Given the description of an element on the screen output the (x, y) to click on. 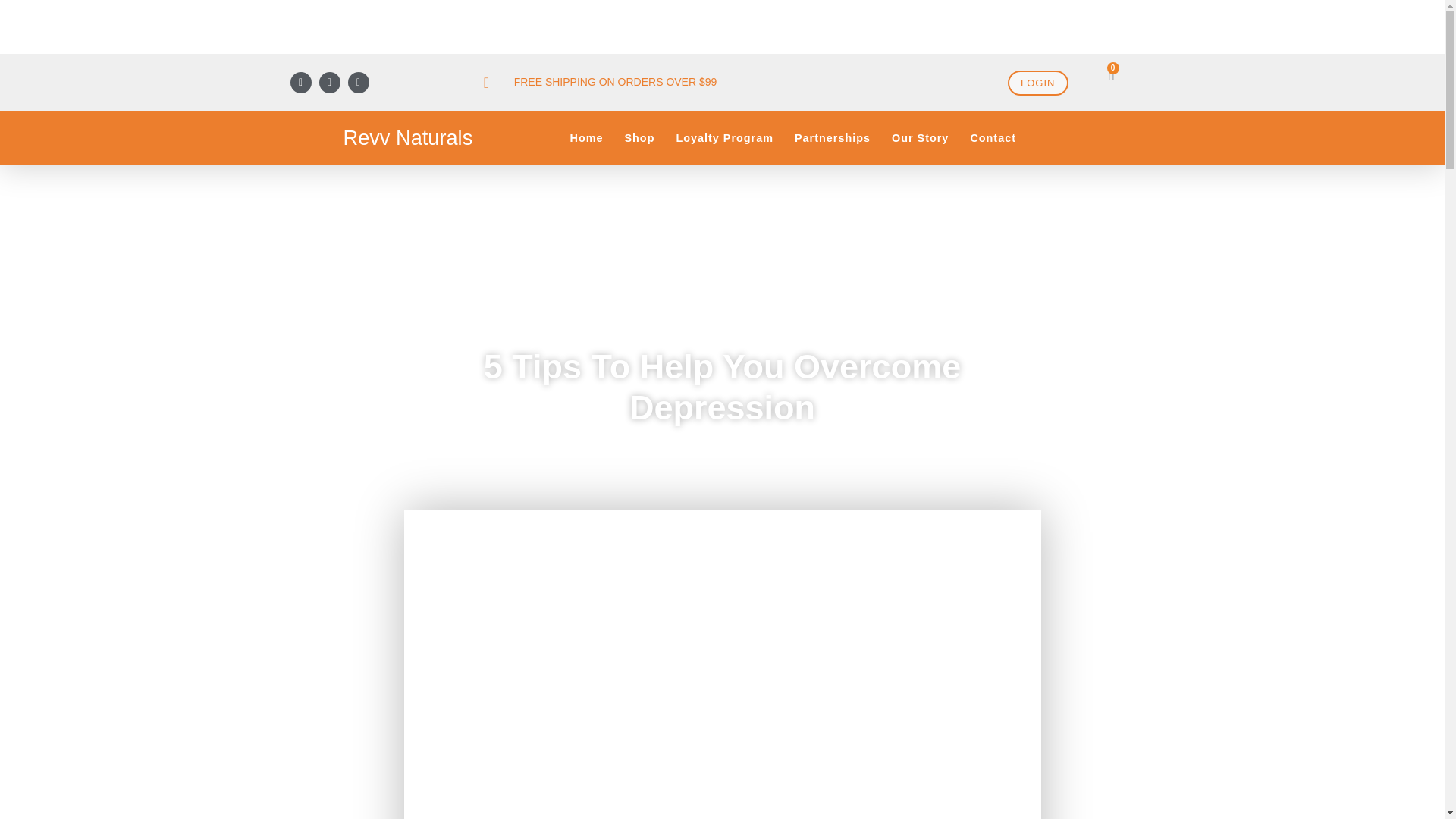
Shop (638, 137)
Home (585, 137)
Partnerships (832, 137)
0 (1110, 74)
Loyalty Program (724, 137)
Revv Naturals (406, 137)
LOGIN (1037, 82)
